Given the description of an element on the screen output the (x, y) to click on. 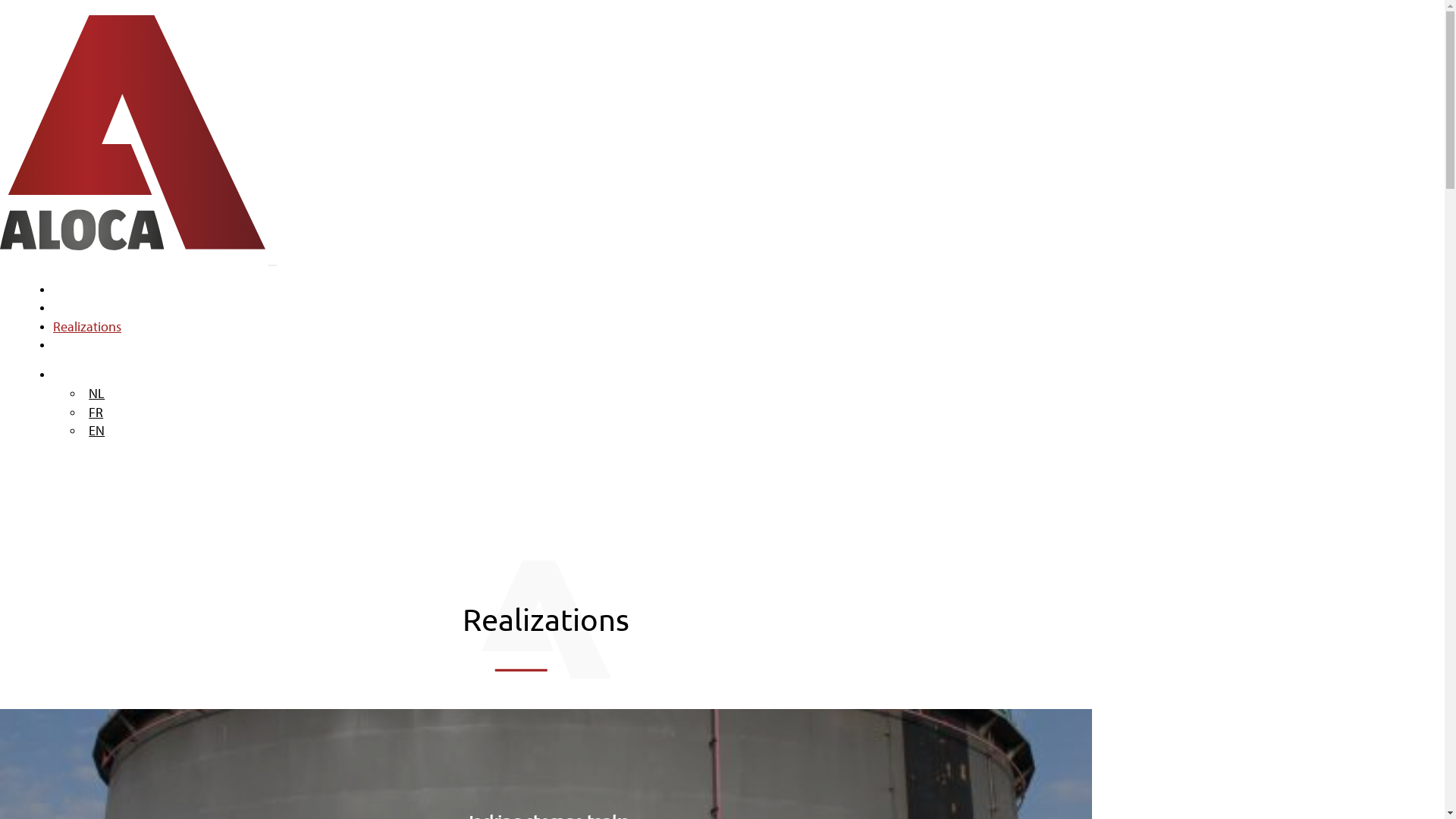
EN Element type: text (96, 430)
NL Element type: text (96, 392)
Realizations Element type: text (87, 326)
About us Element type: text (78, 289)
Activities Element type: text (78, 307)
FR Element type: text (95, 411)
Contact Element type: text (75, 344)
Skip to main content Element type: text (0, 0)
